Given the description of an element on the screen output the (x, y) to click on. 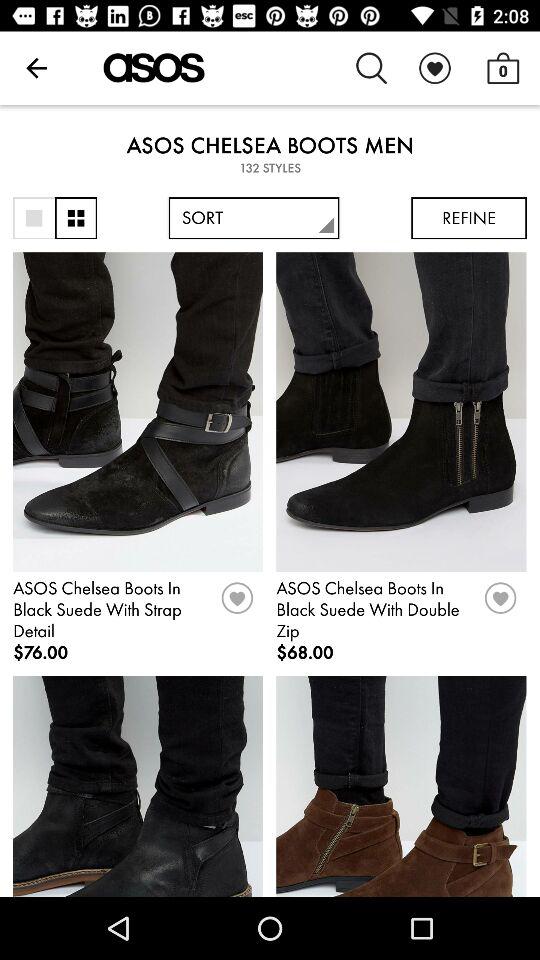
change view to multiple (76, 218)
